Given the description of an element on the screen output the (x, y) to click on. 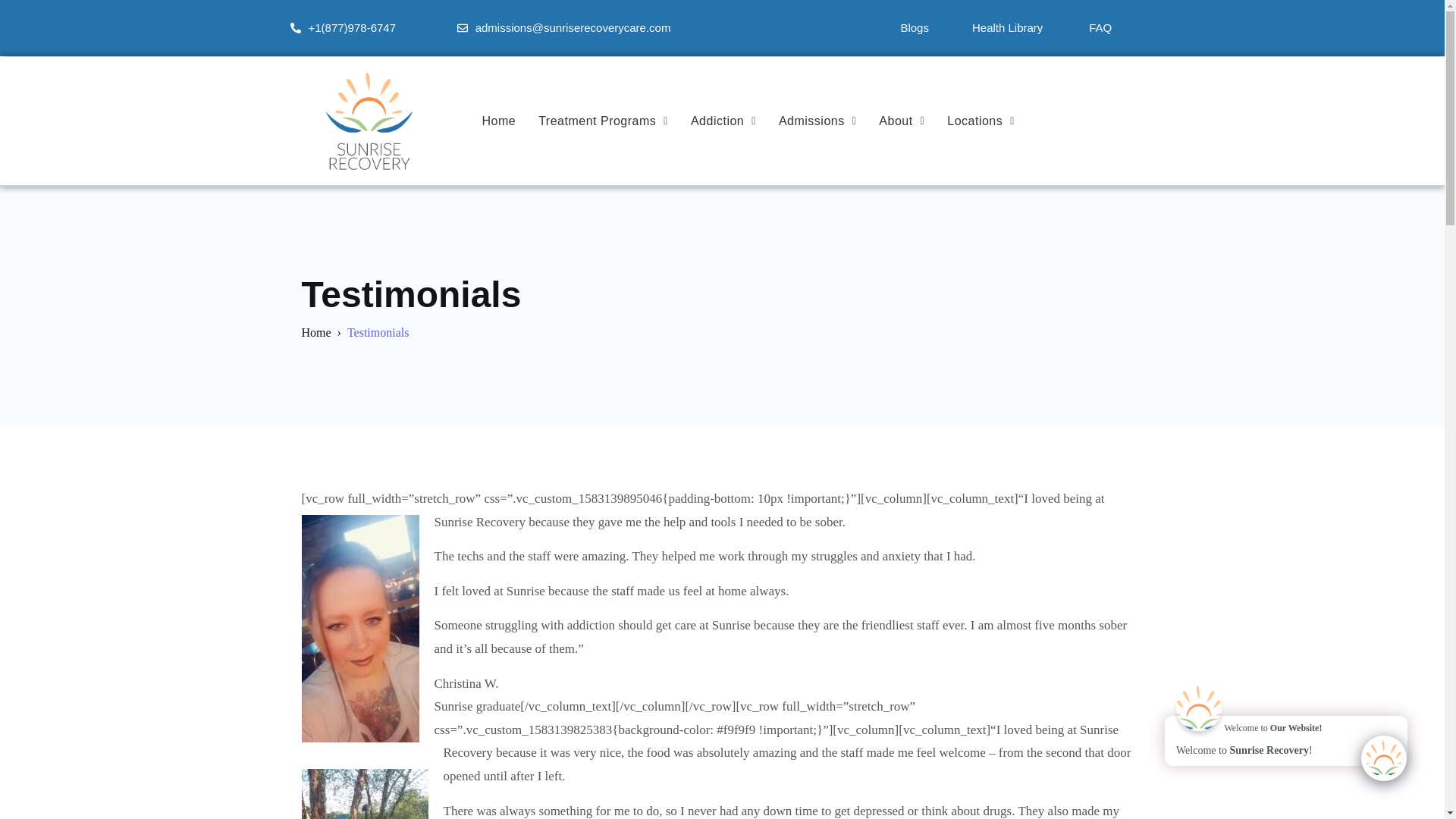
About (901, 121)
Addiction (723, 121)
Admissions (817, 121)
Blogs (914, 27)
Health Library (1007, 27)
Locations (981, 121)
FAQ (1100, 27)
Treatment Programs (603, 121)
Home (498, 121)
Treatment Programs (603, 121)
